Given the description of an element on the screen output the (x, y) to click on. 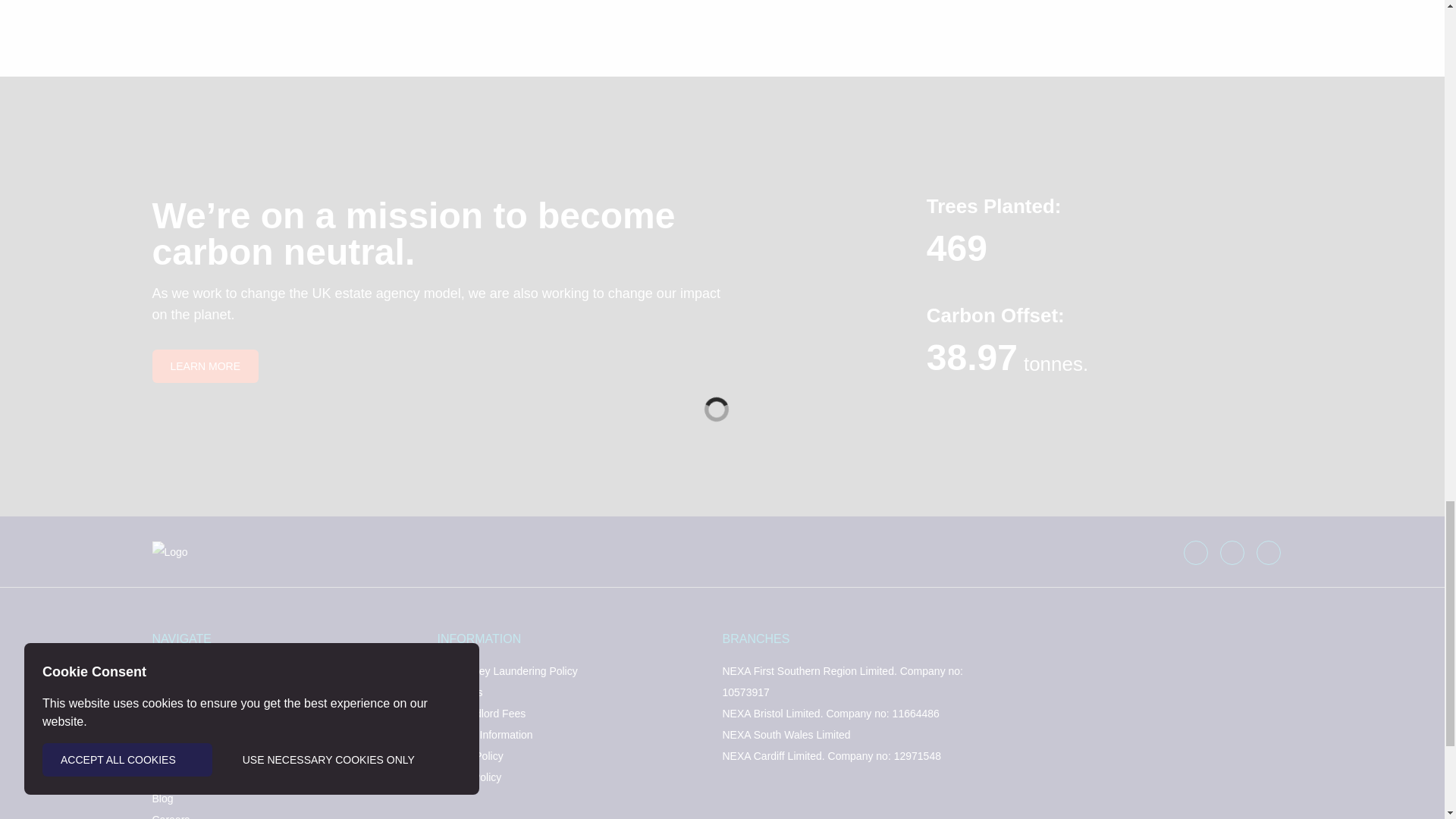
38.97 (971, 357)
469 (956, 248)
